Given the description of an element on the screen output the (x, y) to click on. 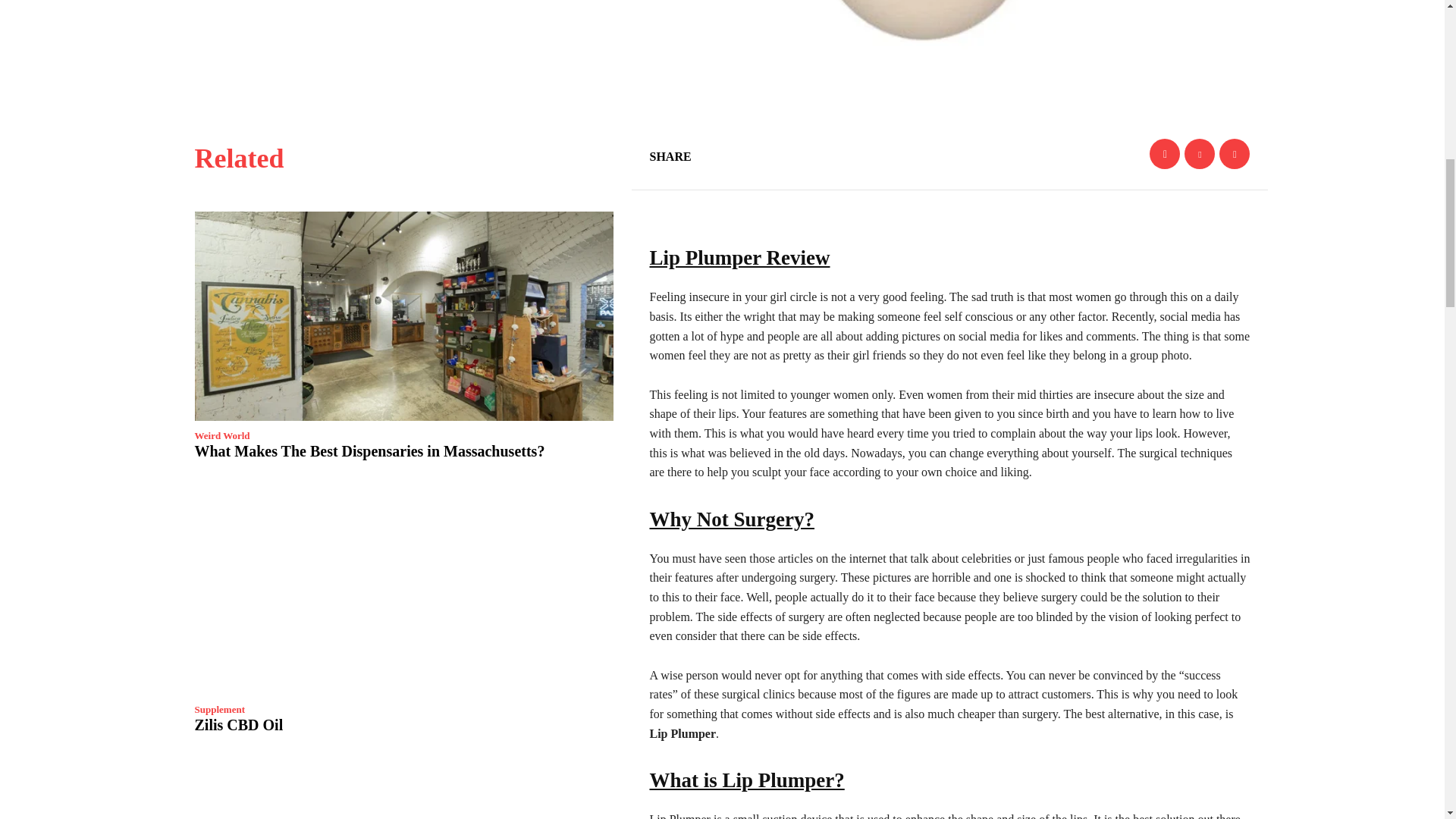
Facebook (1164, 153)
Zilis CBD Oil (237, 724)
What Makes The Best Dispensaries in Massachusetts? (402, 315)
When Sex Hurts (402, 789)
Weird World (220, 435)
What Makes The Best Dispensaries in Massachusetts? (368, 451)
lip-plumper-instant-lip-enhancer-free-trial-us-ca (1046, 46)
What Makes The Best Dispensaries in Massachusetts? (368, 451)
Zilis CBD Oil (402, 589)
